Given the description of an element on the screen output the (x, y) to click on. 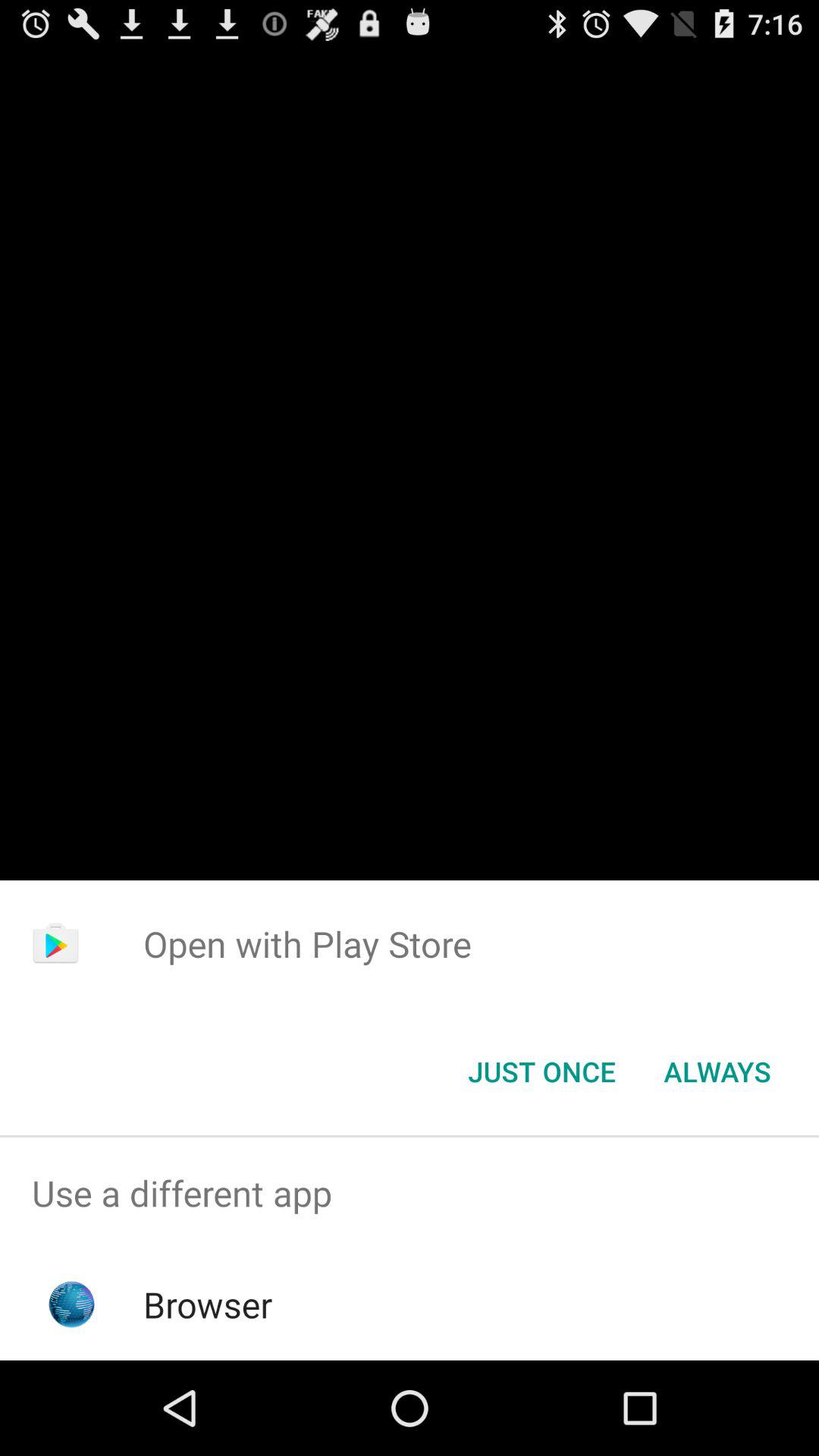
flip to the browser item (207, 1304)
